Given the description of an element on the screen output the (x, y) to click on. 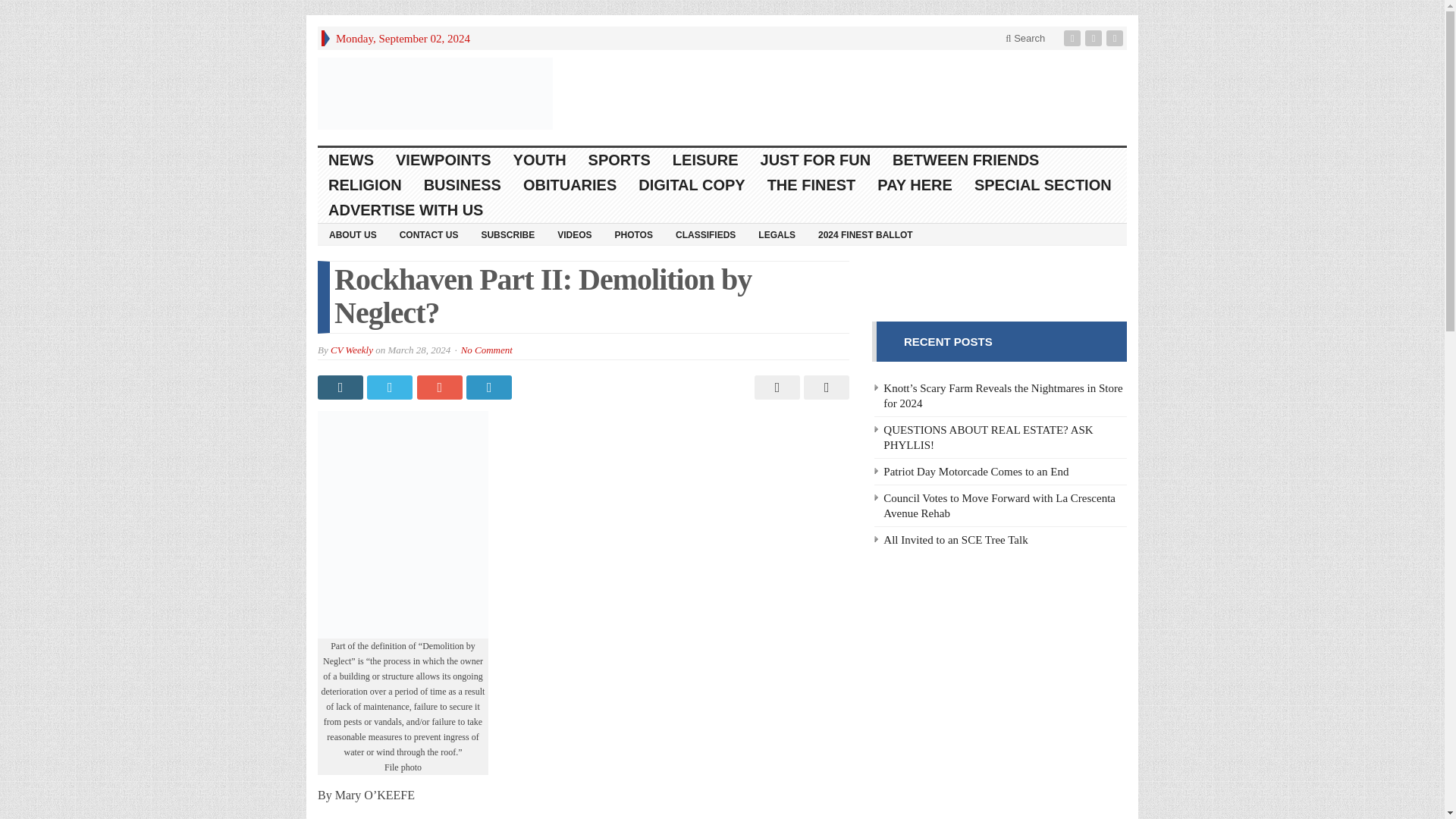
SPORTS (620, 160)
YOUTH (540, 160)
NEWS (351, 160)
Search (1024, 37)
Share on Twitter (391, 387)
Site feed (1115, 37)
ADVERTISE WITH US (406, 210)
RELIGION (365, 185)
Facebook (1073, 37)
LEISURE (705, 160)
